Given the description of an element on the screen output the (x, y) to click on. 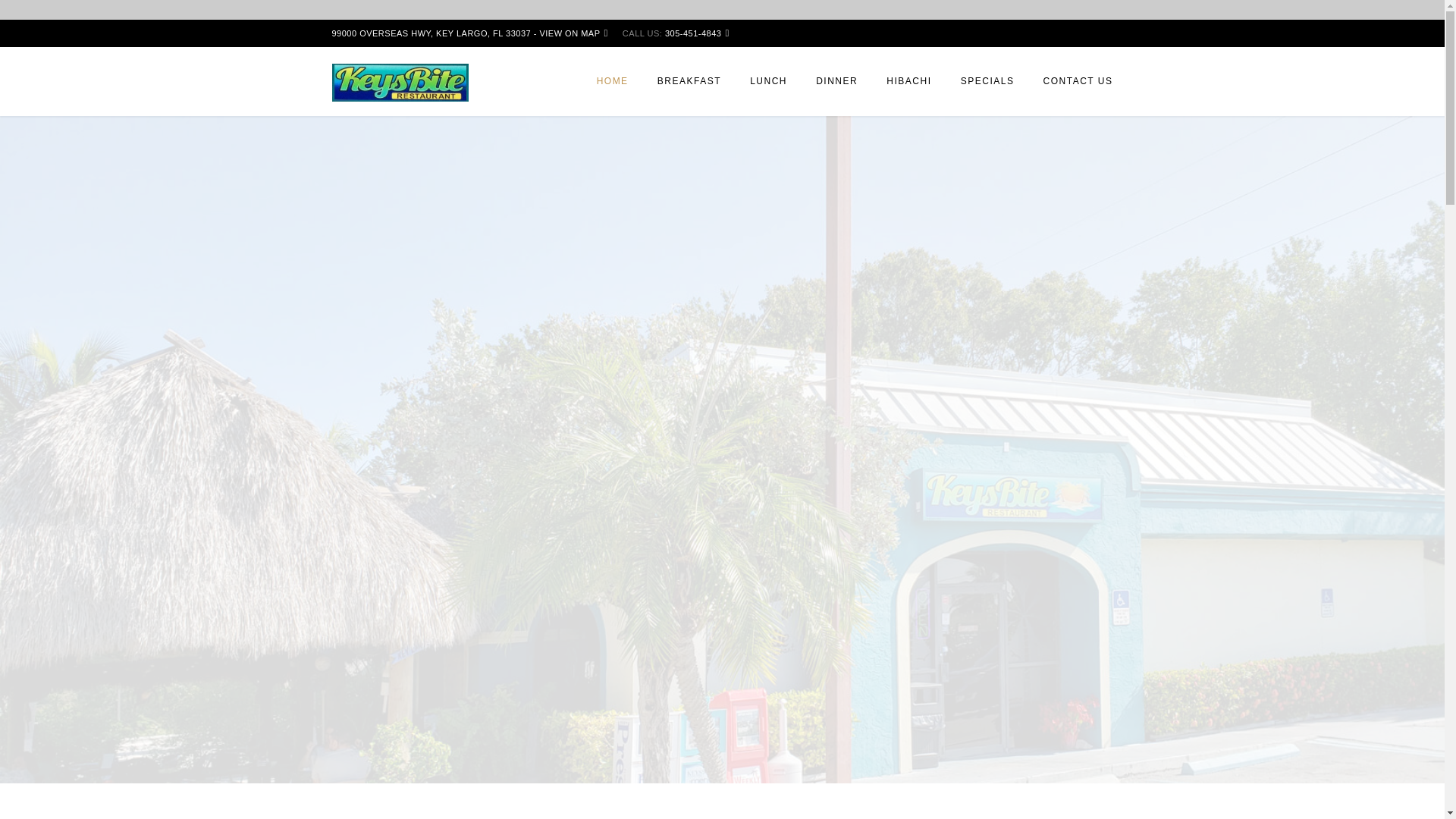
SPECIALS (987, 89)
DINNER (836, 89)
99000 OVERSEAS HWY, KEY LARGO, FL 33037 - VIEW ON MAP (469, 32)
CONTACT US (1071, 89)
HOME (612, 89)
HIBACHI (908, 89)
305-451-4843 (693, 32)
LUNCH (767, 89)
Florida Keys Bite (399, 81)
Skip to content (37, 29)
